Given the description of an element on the screen output the (x, y) to click on. 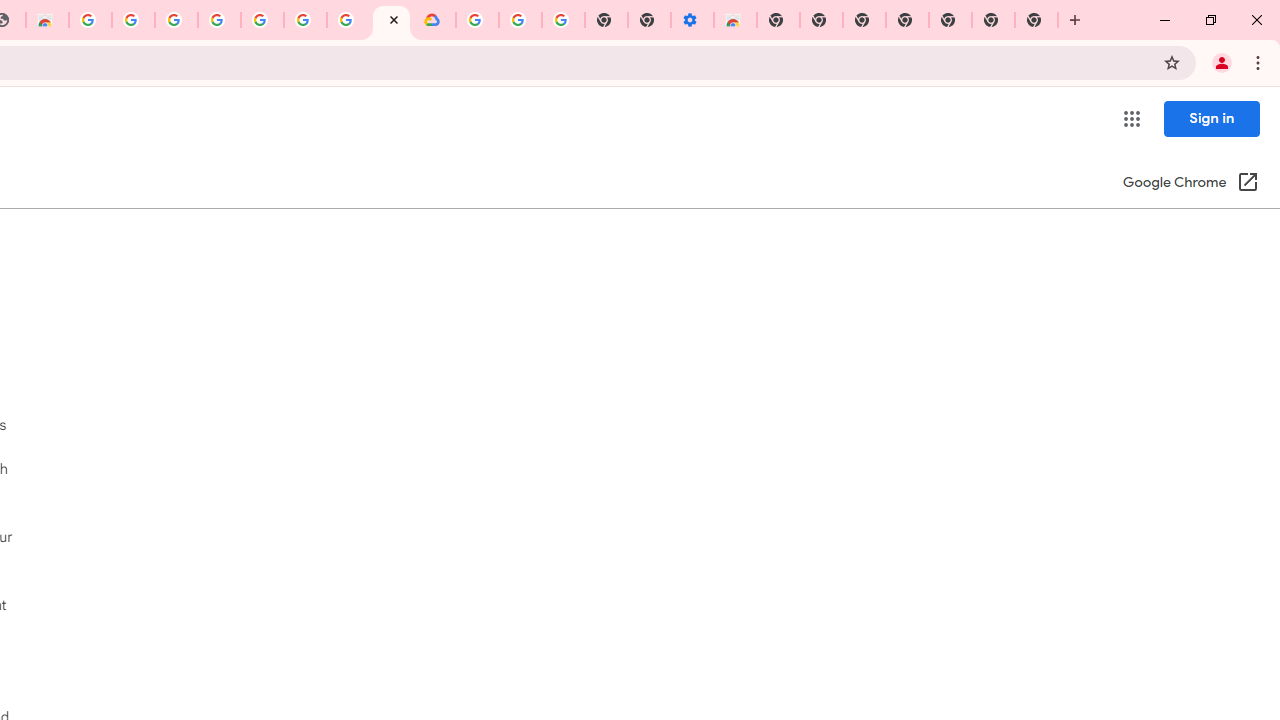
Sign in - Google Accounts (219, 20)
New Tab (777, 20)
Turn cookies on or off - Computer - Google Account Help (562, 20)
Chrome Web Store - Household (47, 20)
Ad Settings (176, 20)
Sign in (1211, 118)
